Given the description of an element on the screen output the (x, y) to click on. 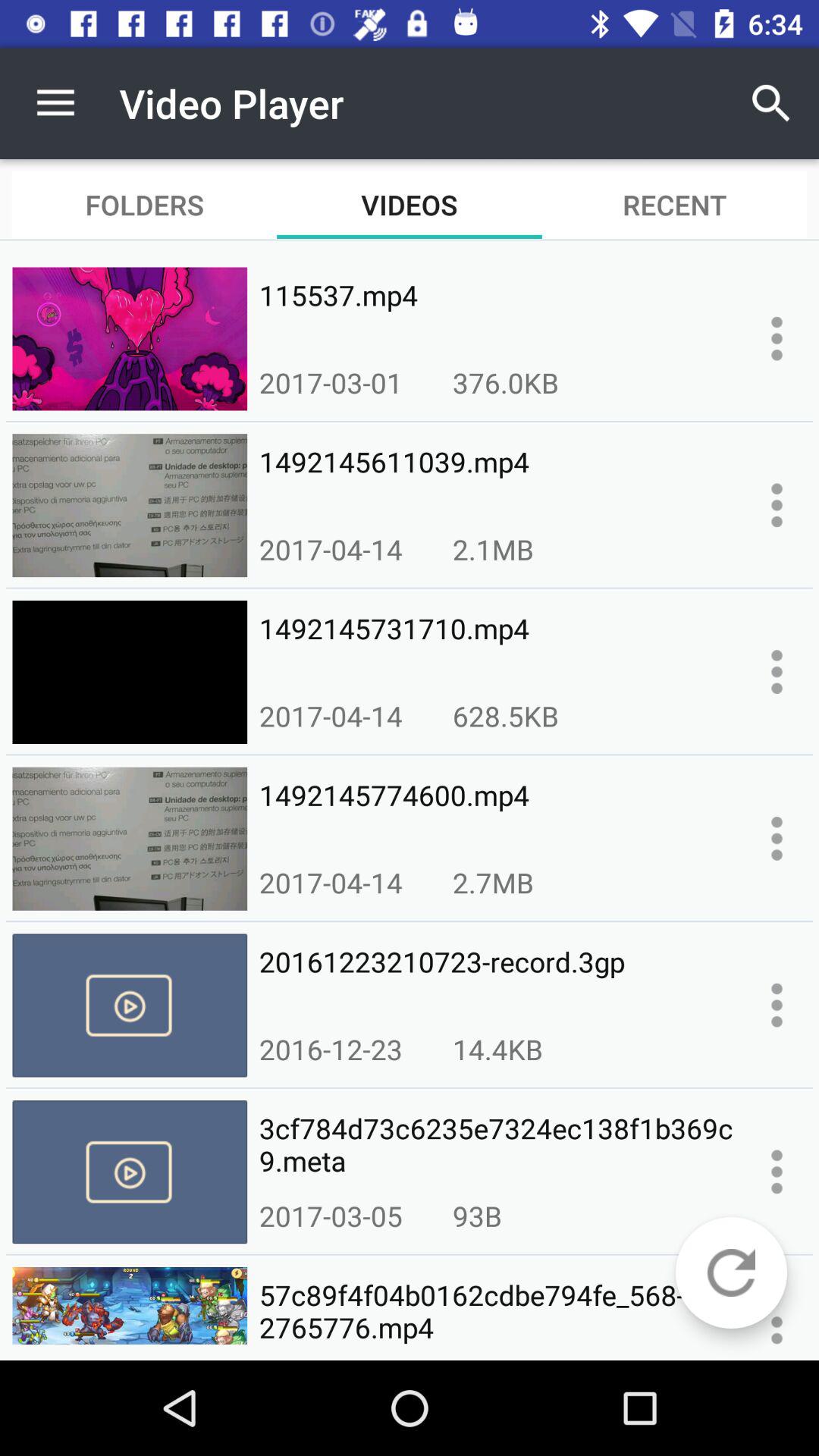
turn on icon to the right of the 2017-03-05 icon (477, 1215)
